Given the description of an element on the screen output the (x, y) to click on. 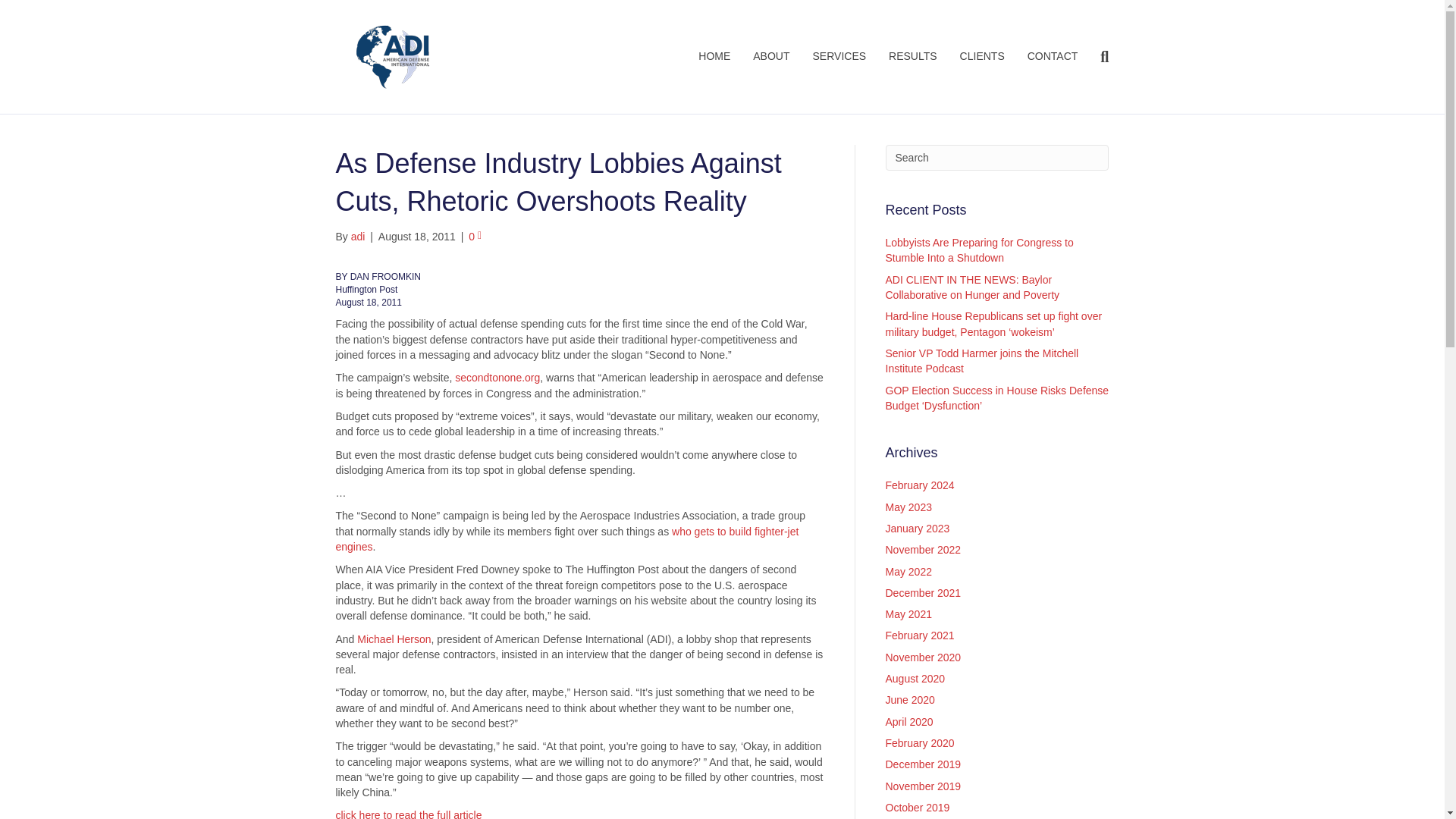
click here to read the full article (407, 814)
HOME (714, 56)
Senior VP Todd Harmer joins the Mitchell Institute Podcast (981, 360)
RESULTS (913, 56)
Senior VP Todd Harmer joins the Mitchell Institute Podcast (981, 360)
who gets to build fighter-jet engines (565, 538)
secondtonone.org (497, 377)
Michael Herson (393, 639)
CONTACT (1052, 56)
adi (357, 236)
ABOUT (770, 56)
Type and press Enter to search. (997, 157)
Search (997, 157)
